Given the description of an element on the screen output the (x, y) to click on. 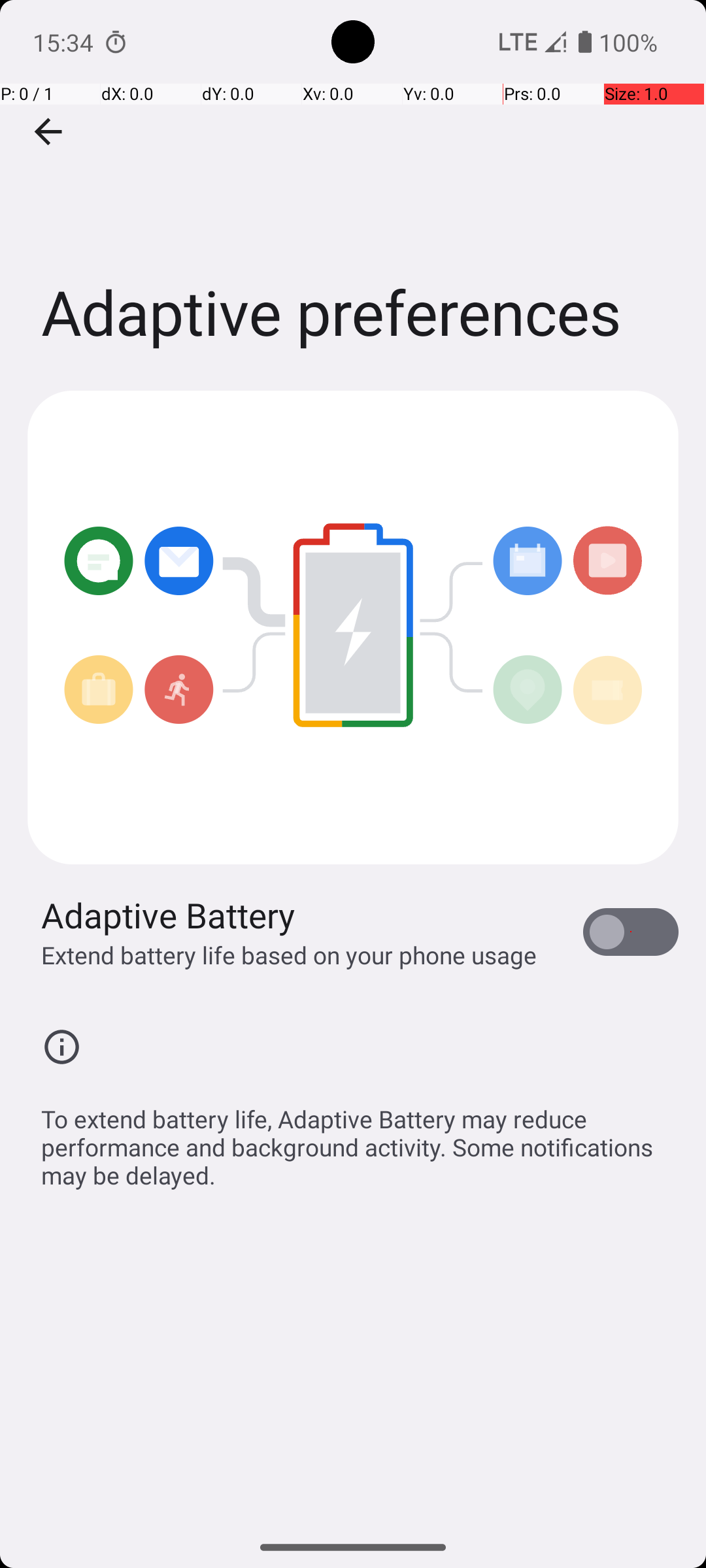
Adaptive Battery Element type: android.widget.TextView (168, 914)
Extend battery life based on your phone usage Element type: android.widget.TextView (288, 954)
To extend battery life, Adaptive Battery may reduce performance and background activity. Some notifications may be delayed. Element type: android.widget.TextView (359, 1139)
